Given the description of an element on the screen output the (x, y) to click on. 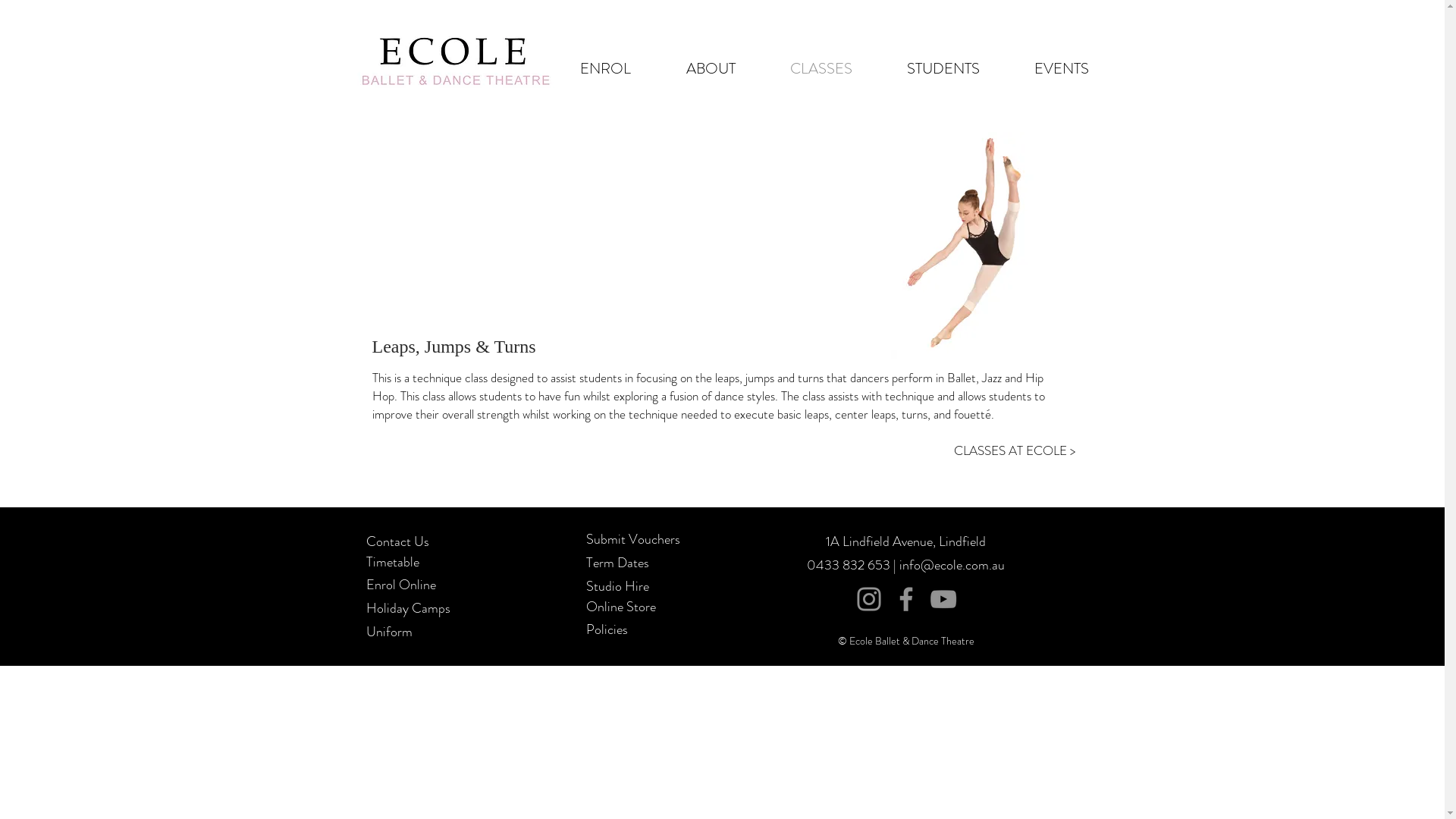
ENROL Element type: text (605, 68)
EVENTS Element type: text (1061, 68)
ABOUT Element type: text (710, 68)
Uniform Element type: text (388, 631)
0433 832 653  Element type: text (849, 564)
Holiday Camps Element type: text (407, 608)
| Element type: text (894, 564)
Contact Us Element type: text (396, 540)
Timetable Element type: text (391, 561)
Policies Element type: text (606, 629)
STUDENTS Element type: text (943, 68)
info@ecole.com.au Element type: text (951, 564)
CLASSES AT ECOLE > Element type: text (1014, 450)
1A Lindfield Avenue, Lindfield Element type: text (905, 541)
Studio Hire Element type: text (616, 586)
Online Store Element type: text (620, 606)
CLASSES Element type: text (820, 68)
Submit Vouchers Element type: text (632, 537)
Term Dates Element type: text (616, 561)
